Given the description of an element on the screen output the (x, y) to click on. 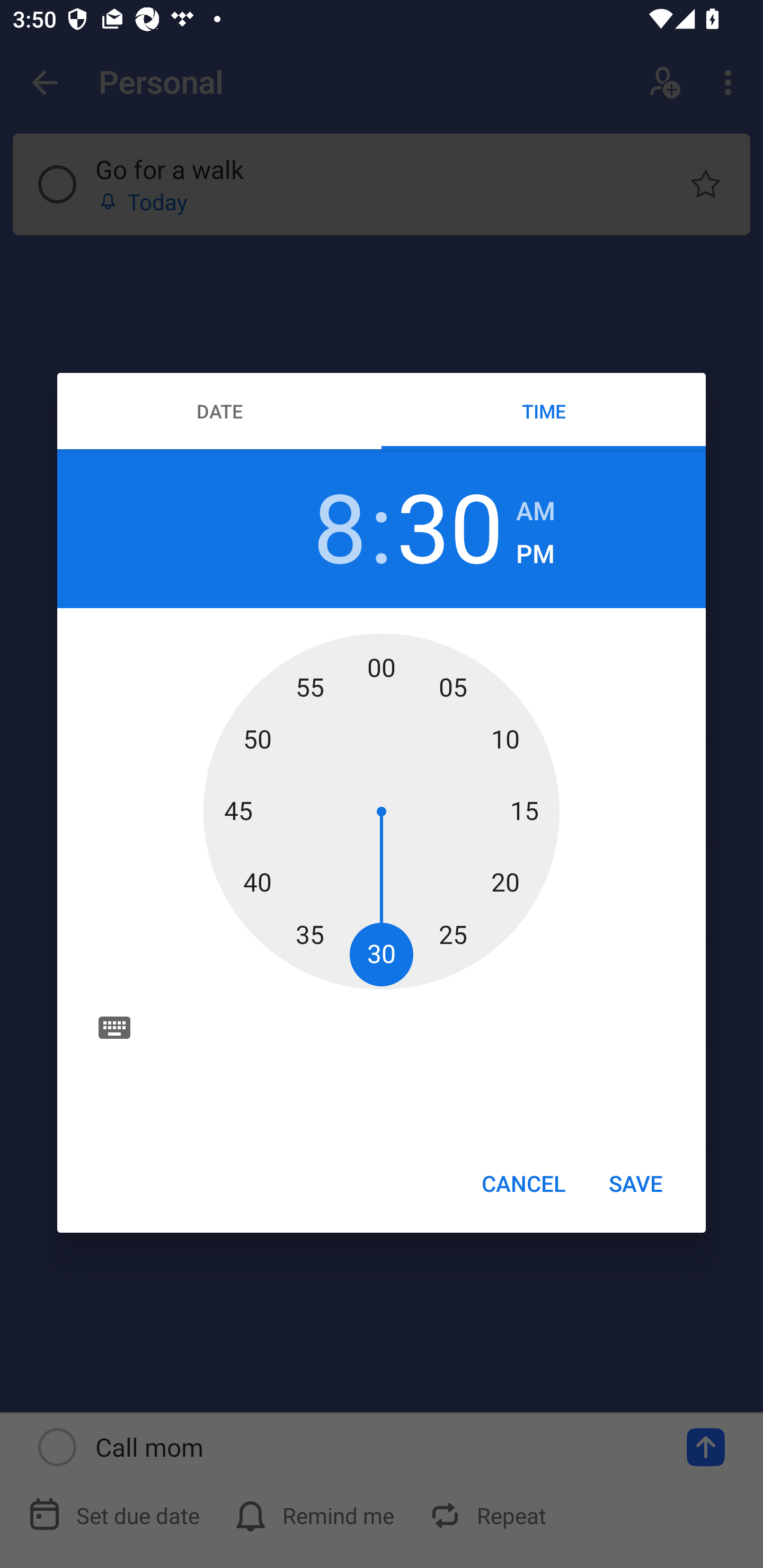
SAVE (635, 1182)
